Given the description of an element on the screen output the (x, y) to click on. 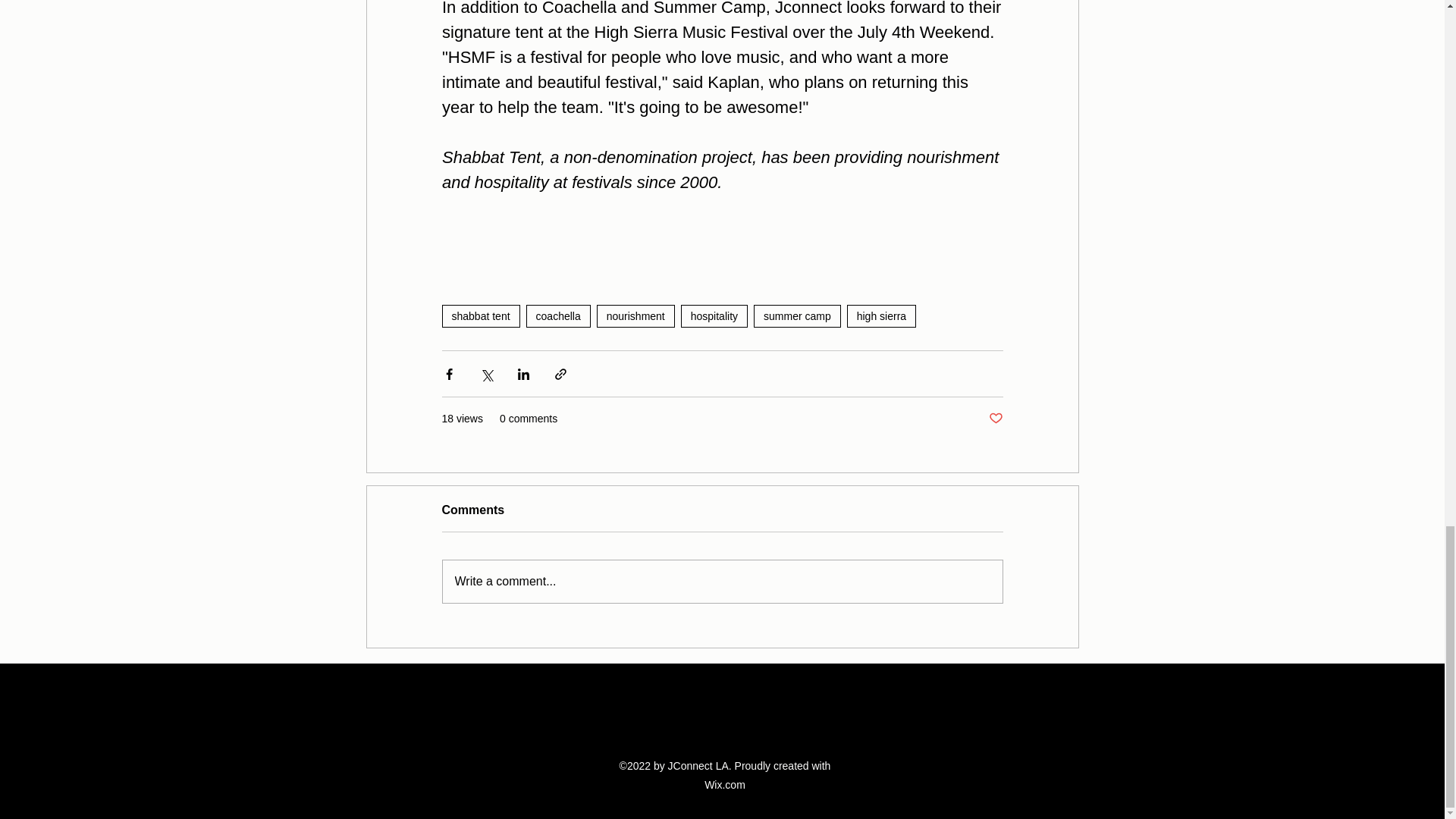
hospitality (714, 315)
coachella (558, 315)
Write a comment... (722, 581)
Post not marked as liked (995, 418)
nourishment (635, 315)
shabbat tent (480, 315)
summer camp (797, 315)
high sierra (881, 315)
